Given the description of an element on the screen output the (x, y) to click on. 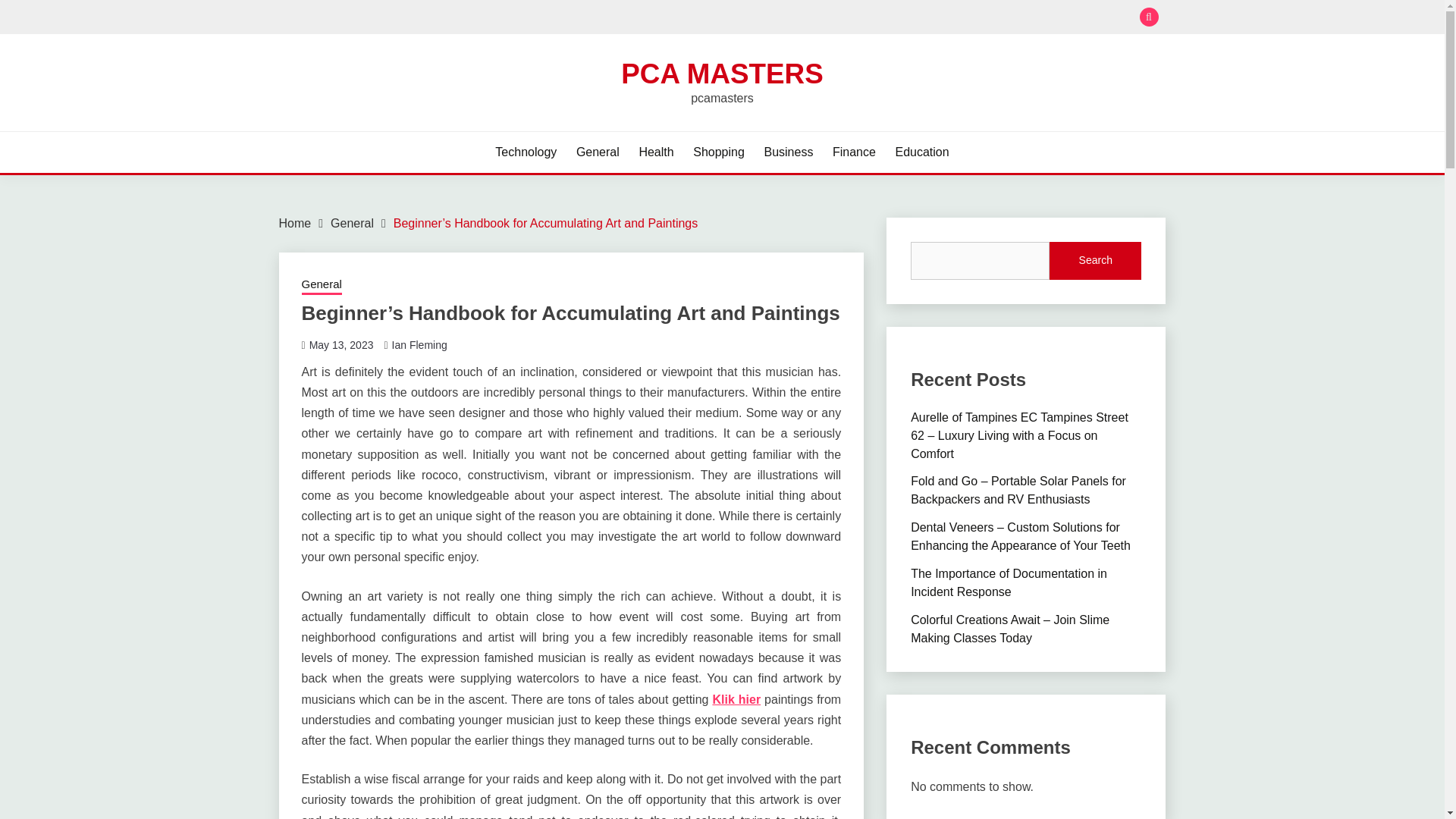
General (352, 223)
The Importance of Documentation in Incident Response (1008, 582)
May 13, 2023 (341, 345)
Business (787, 152)
Search (832, 18)
Technology (525, 152)
Health (655, 152)
PCA MASTERS (721, 73)
Search (1095, 260)
Education (922, 152)
Klik hier (735, 698)
Finance (854, 152)
Ian Fleming (418, 345)
Home (295, 223)
General (321, 285)
